Given the description of an element on the screen output the (x, y) to click on. 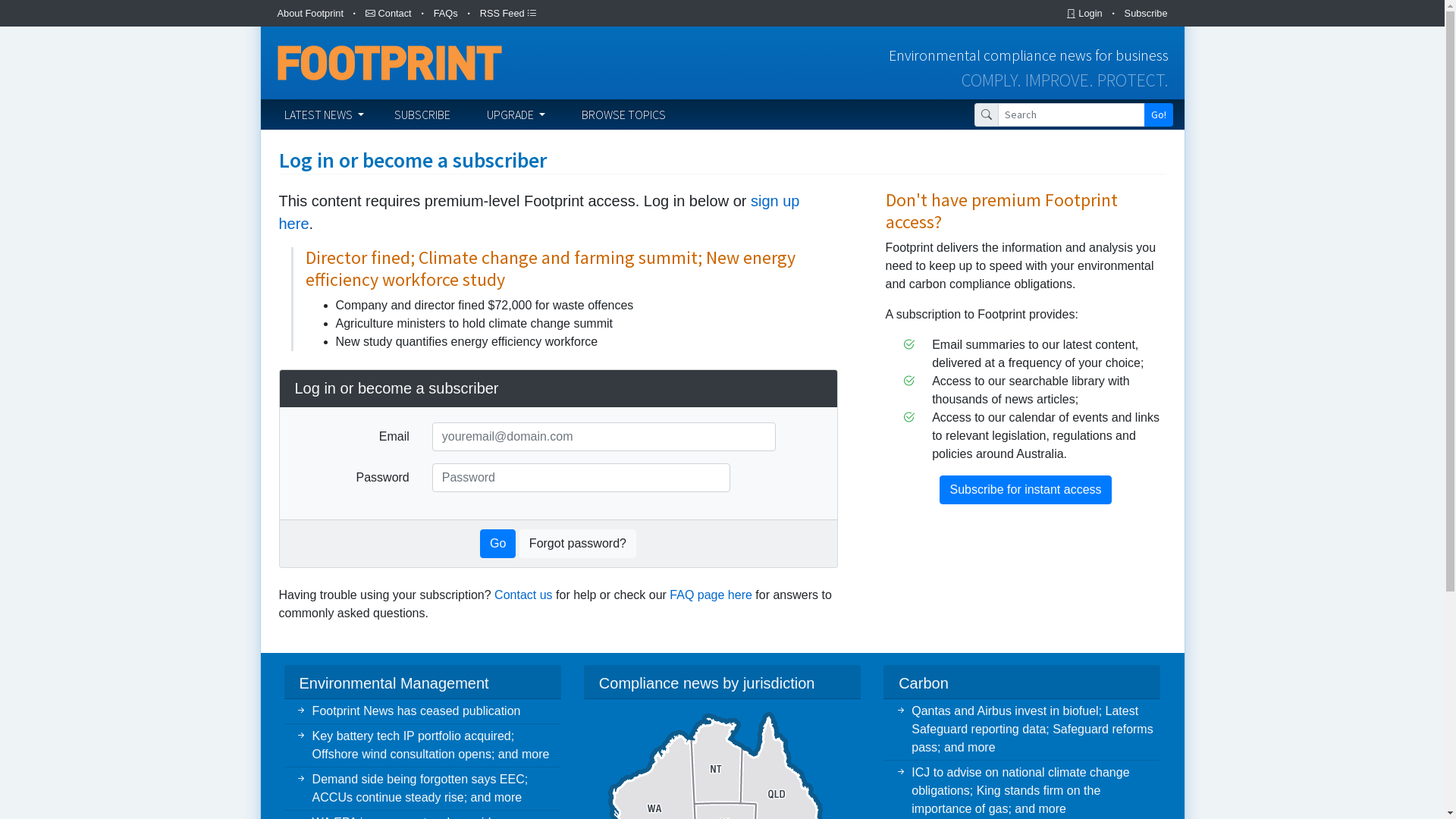
About Footprint Element type: text (310, 13)
Footprint News has ceased publication Element type: text (421, 711)
SUBSCRIBE Element type: text (422, 114)
FAQ page here Element type: text (710, 594)
sign up here Element type: text (539, 212)
RSS Feed Element type: text (508, 13)
Forgot password? Element type: text (577, 543)
Contact Element type: text (388, 13)
Subscribe Element type: text (1145, 13)
Subscribe for instant access Element type: text (1024, 489)
Login Element type: text (1084, 13)
LATEST NEWS Element type: text (323, 114)
Contact us Element type: text (523, 594)
Go! Element type: text (1157, 114)
Go Element type: text (497, 543)
FAQs Element type: text (445, 13)
UPGRADE Element type: text (515, 114)
BROWSE TOPICS Element type: text (623, 114)
